Given the description of an element on the screen output the (x, y) to click on. 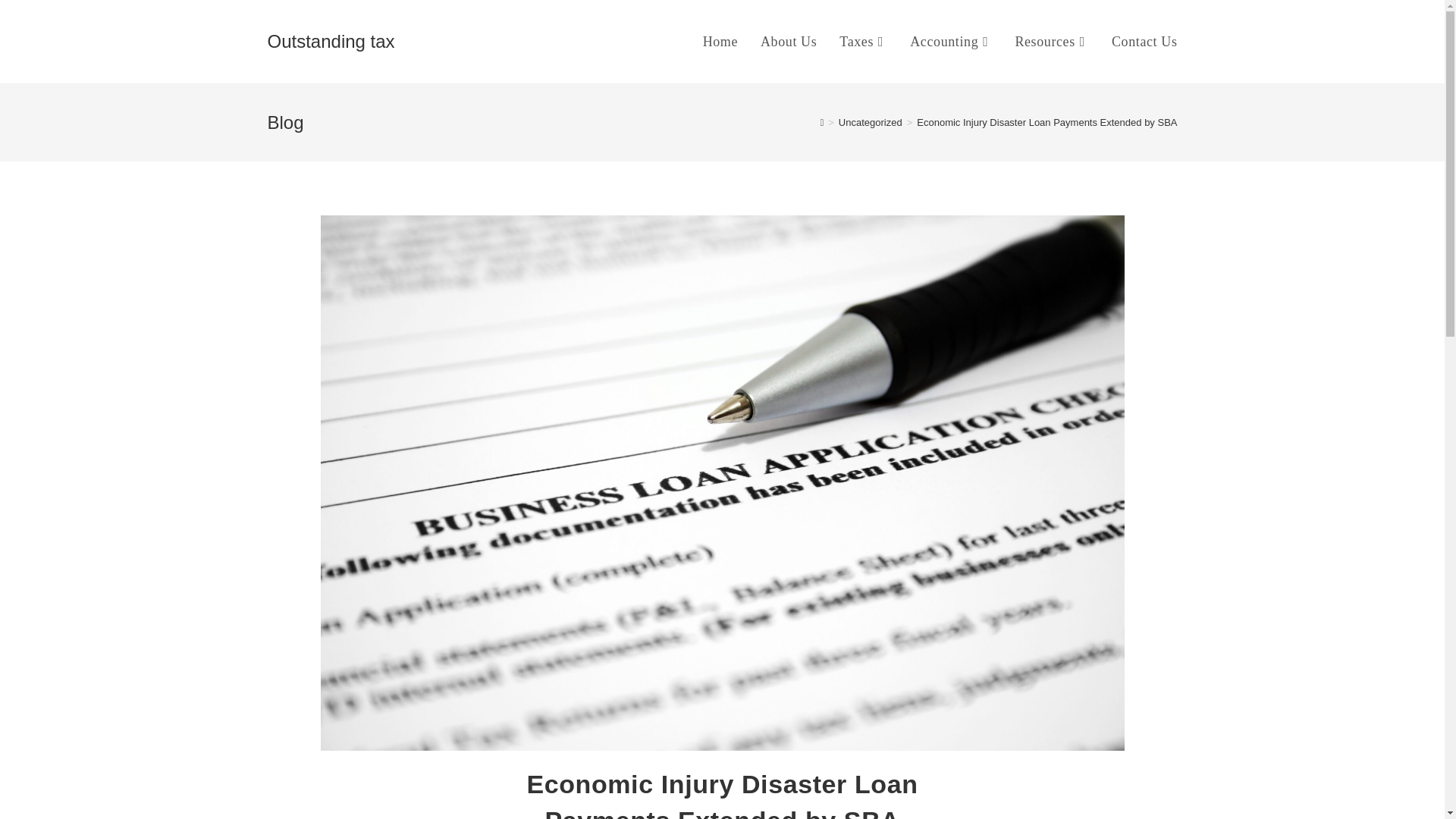
Resources (1051, 41)
Contact Us (1144, 41)
About Us (788, 41)
Outstanding tax (330, 41)
Accounting (950, 41)
